Given the description of an element on the screen output the (x, y) to click on. 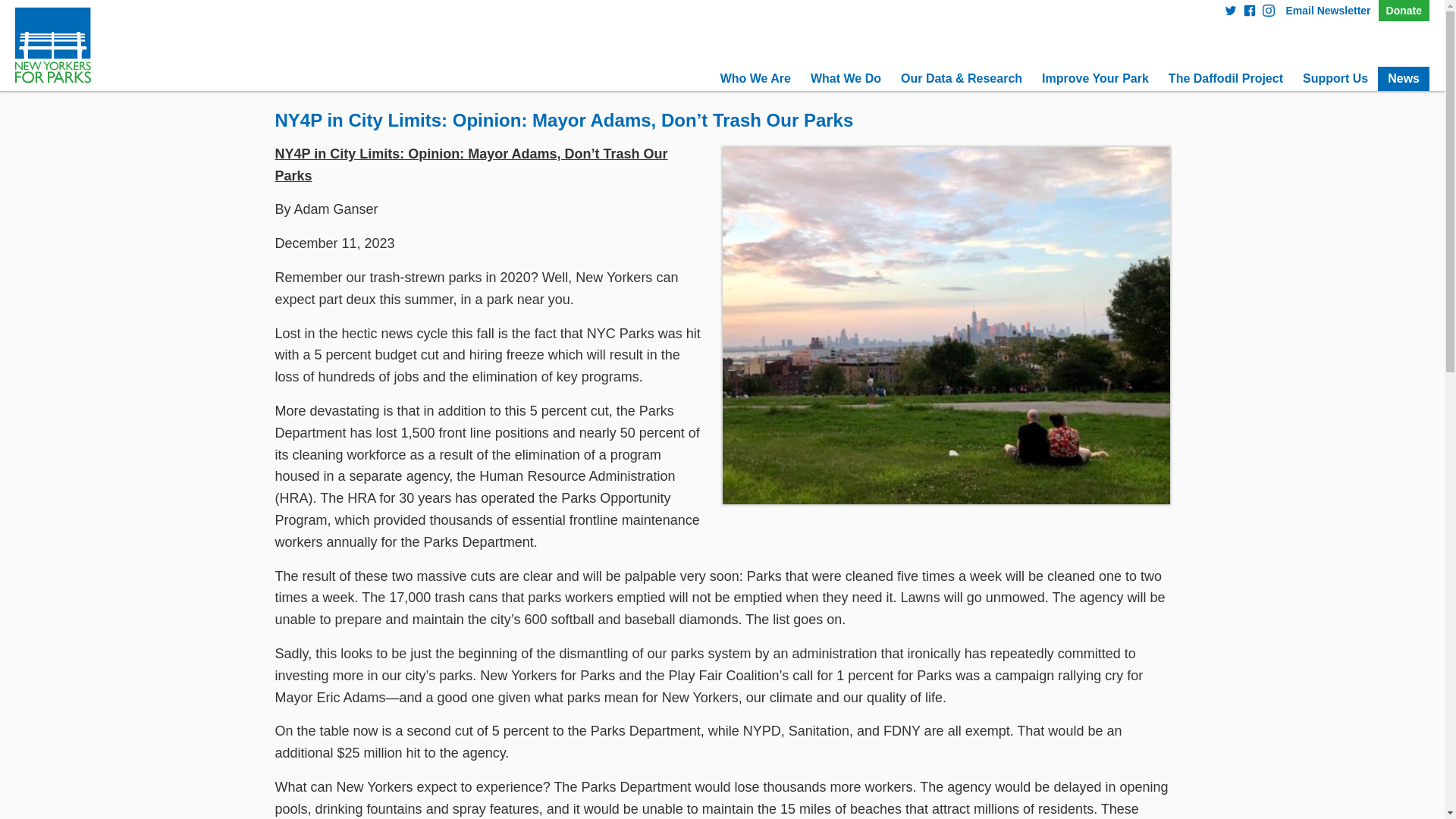
Who We Are (755, 78)
Support Us (1334, 78)
Email Newsletter (1327, 10)
The Daffodil Project (1225, 78)
News (1403, 78)
Improve Your Park (1095, 78)
What We Do (845, 78)
Donate (1403, 10)
